Given the description of an element on the screen output the (x, y) to click on. 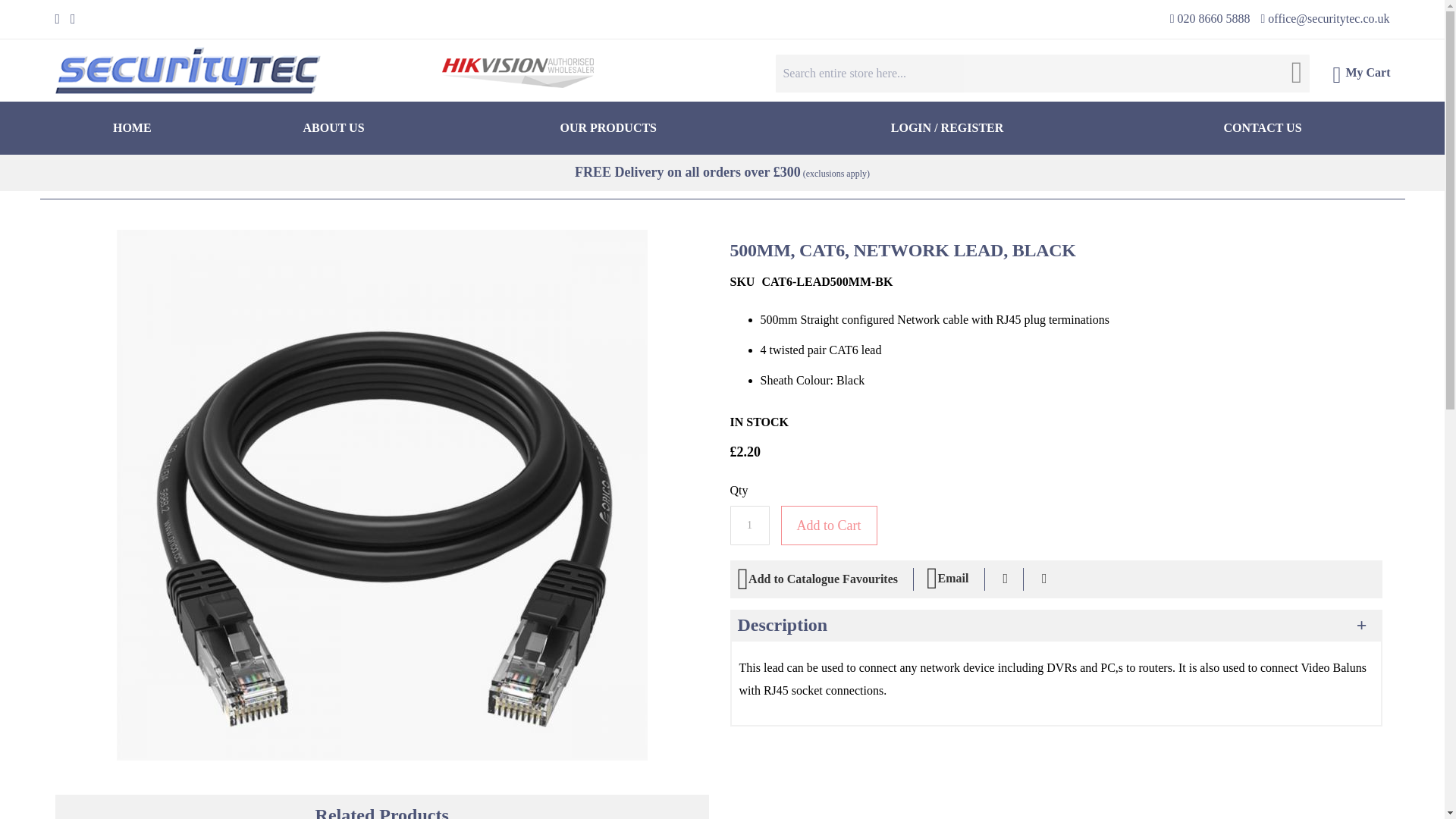
Email Security Tec (1324, 18)
OUR PRODUCTS (607, 127)
Securitytec (187, 70)
ABOUT US (332, 127)
Share on Facebook (1005, 579)
Click to view full delivery and returns information (722, 171)
Qty (748, 525)
Add to Cart (828, 525)
1 (748, 525)
Availability (759, 422)
Hikvision - Authorised Distributor (516, 72)
Share on Twitter (1044, 579)
020 8660 5888 (1210, 18)
My Cart (1360, 76)
HOME (132, 127)
